Given the description of an element on the screen output the (x, y) to click on. 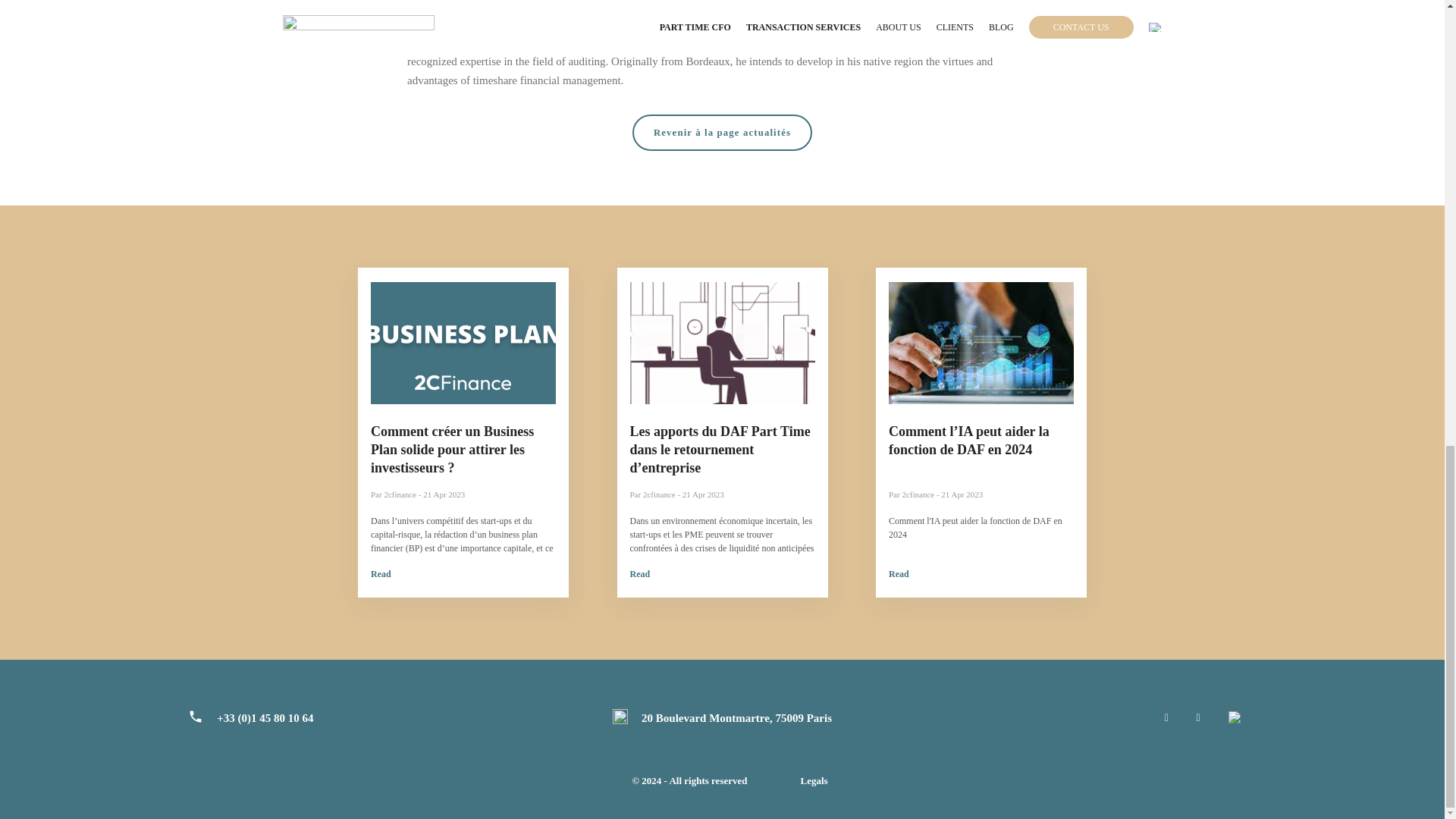
20 Boulevard Montmartre, 75009 Paris (736, 717)
Read (638, 573)
Read (381, 573)
Legals (813, 780)
Comment l'IA peut aider la fonction de DAF en 2024 (975, 527)
Read (898, 573)
